Given the description of an element on the screen output the (x, y) to click on. 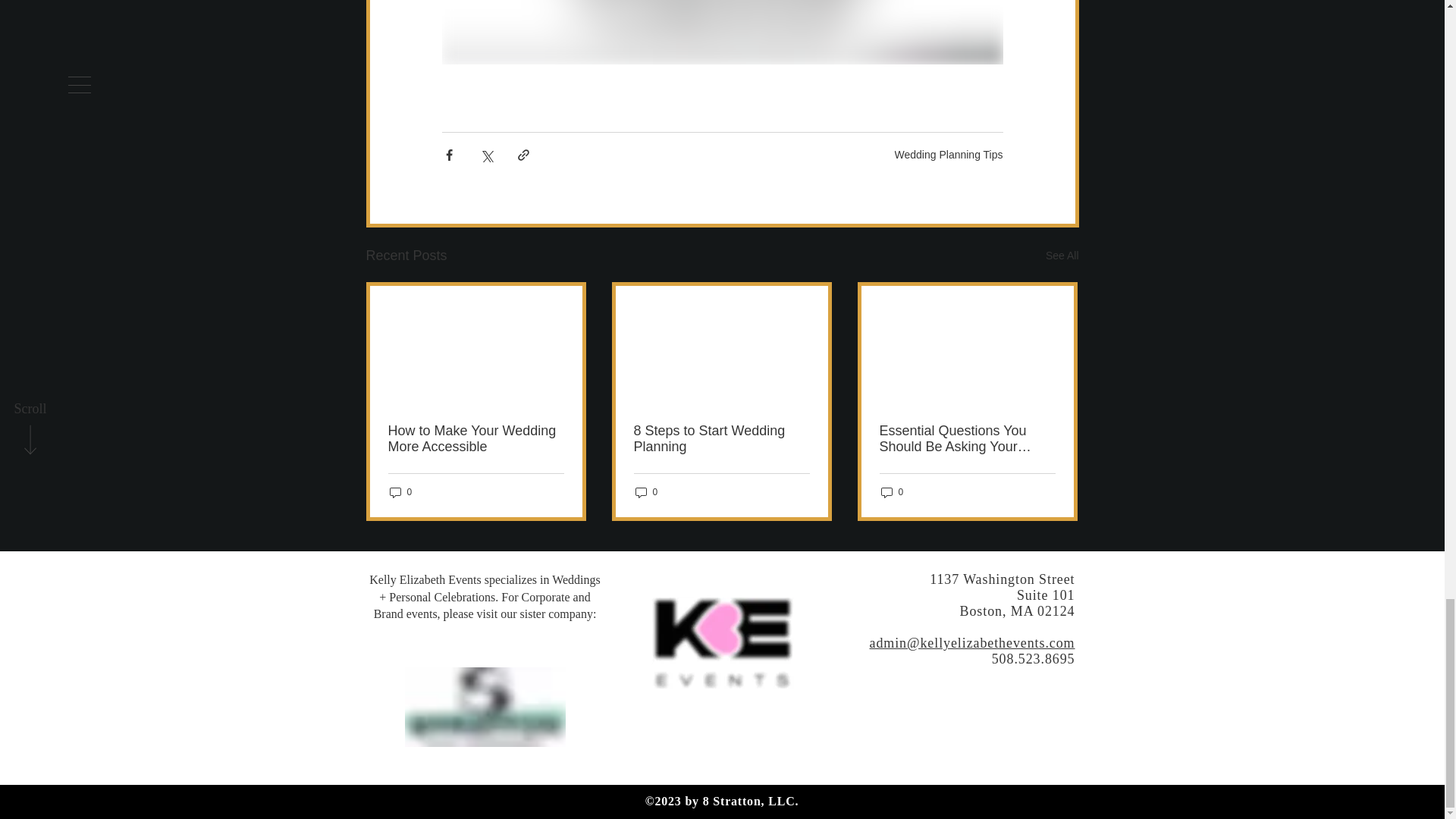
0 (892, 492)
See All (1061, 255)
0 (400, 492)
How to Make Your Wedding More Accessible (476, 439)
Wedding Planning Tips (949, 154)
8 Steps to Start Wedding Planning (721, 439)
0 (646, 492)
